Given the description of an element on the screen output the (x, y) to click on. 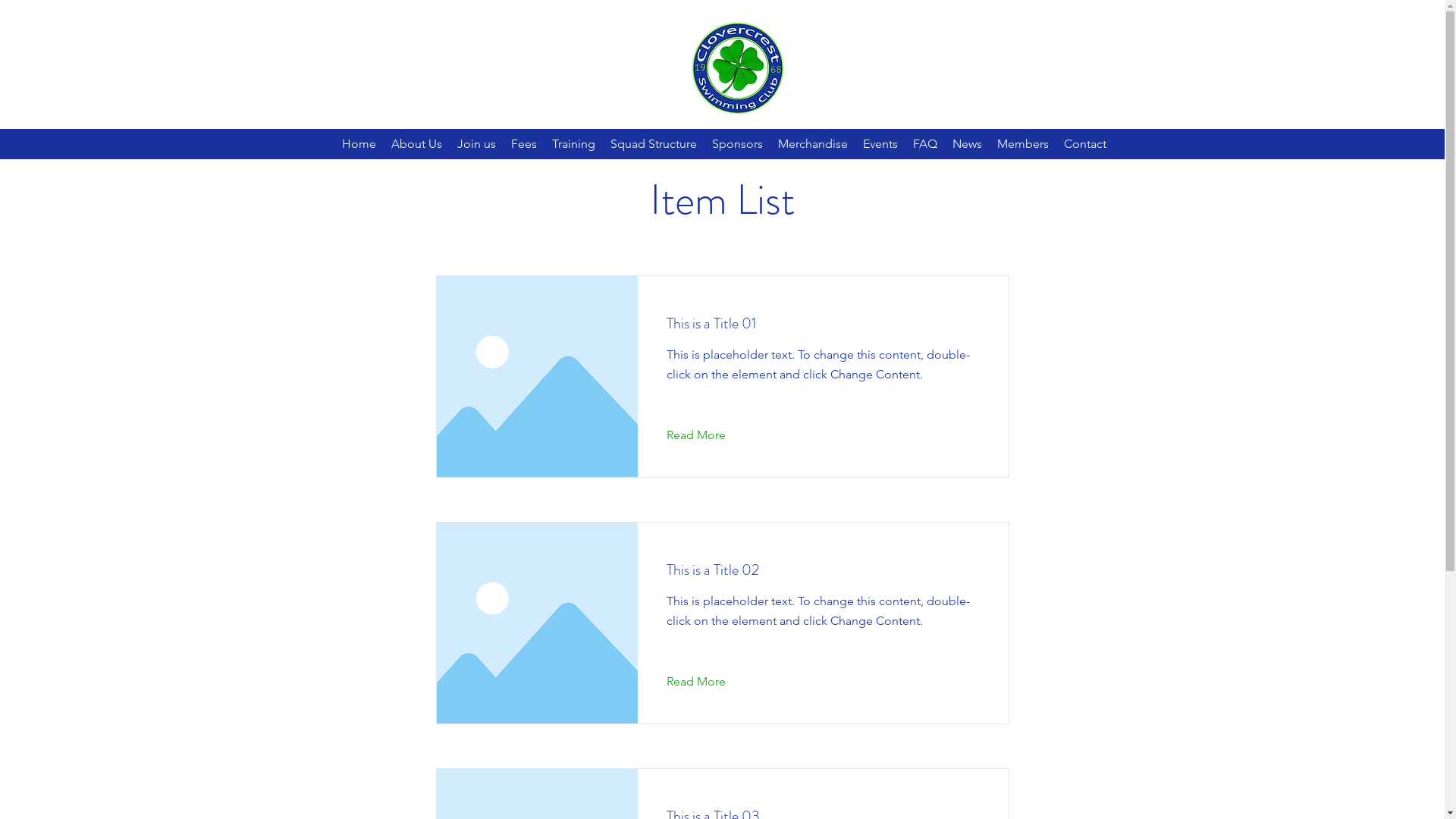
Events Element type: text (880, 143)
Read More Element type: text (706, 434)
Image-empty-state.png Element type: hover (536, 622)
Image-empty-state.png Element type: hover (536, 376)
Fees Element type: text (523, 143)
Join us Element type: text (476, 143)
TWIPLA (Visitor Analytics) Element type: hover (1442, 4)
About Us Element type: text (416, 143)
Contact Element type: text (1084, 143)
Members Element type: text (1022, 143)
News Element type: text (966, 143)
Read More Element type: text (706, 681)
FAQ Element type: text (924, 143)
Training Element type: text (573, 143)
Squad Structure Element type: text (653, 143)
Merchandise Element type: text (812, 143)
Home Element type: text (358, 143)
Sponsors Element type: text (737, 143)
